Given the description of an element on the screen output the (x, y) to click on. 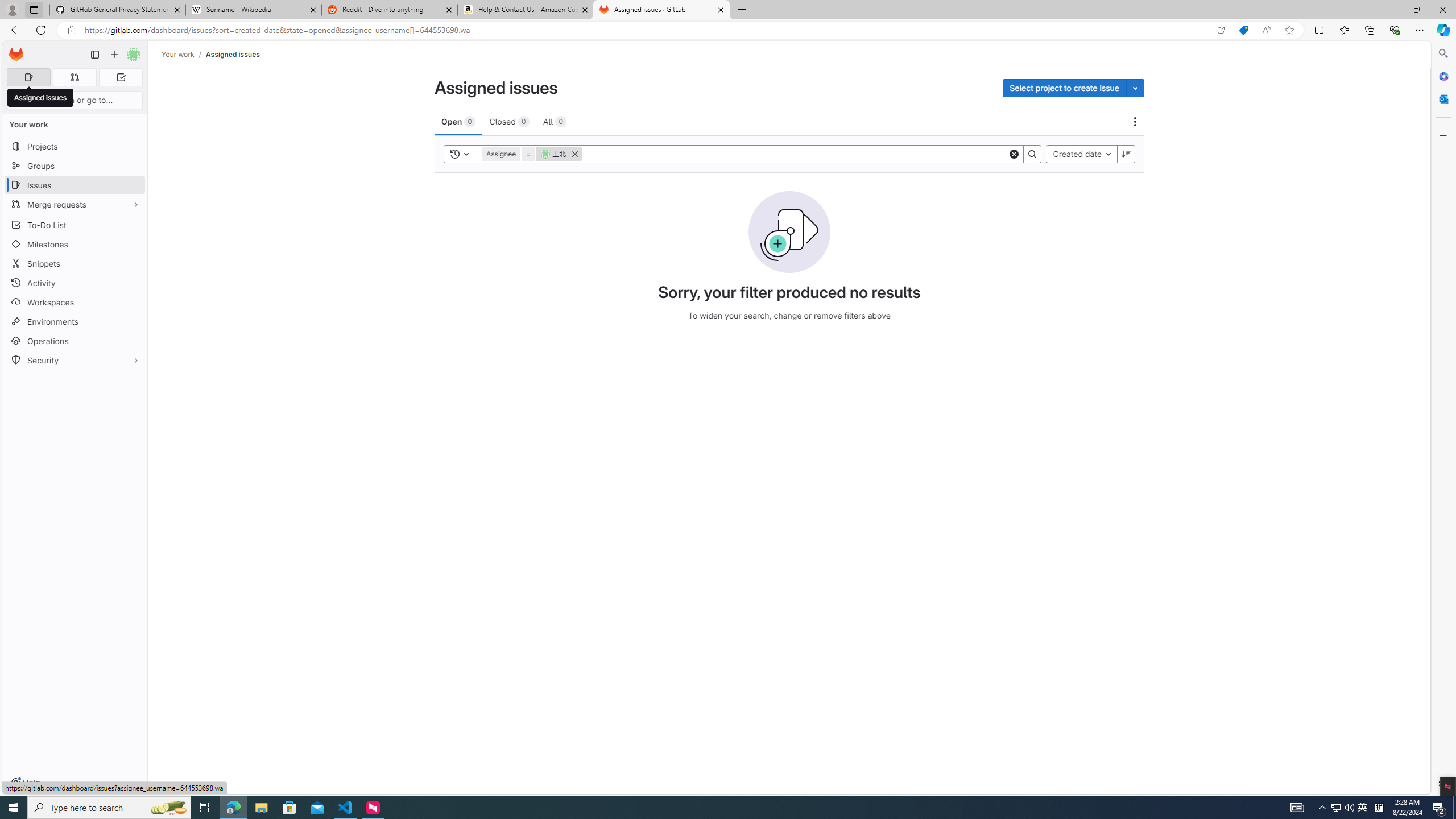
Security (74, 359)
Security (74, 359)
Groups (74, 165)
Assigned issues (232, 53)
Help (25, 782)
Created date (1081, 153)
Operations (74, 340)
Side bar (1443, 418)
Suriname - Wikipedia (253, 9)
Actions (1134, 121)
Skip to main content (13, 49)
